Given the description of an element on the screen output the (x, y) to click on. 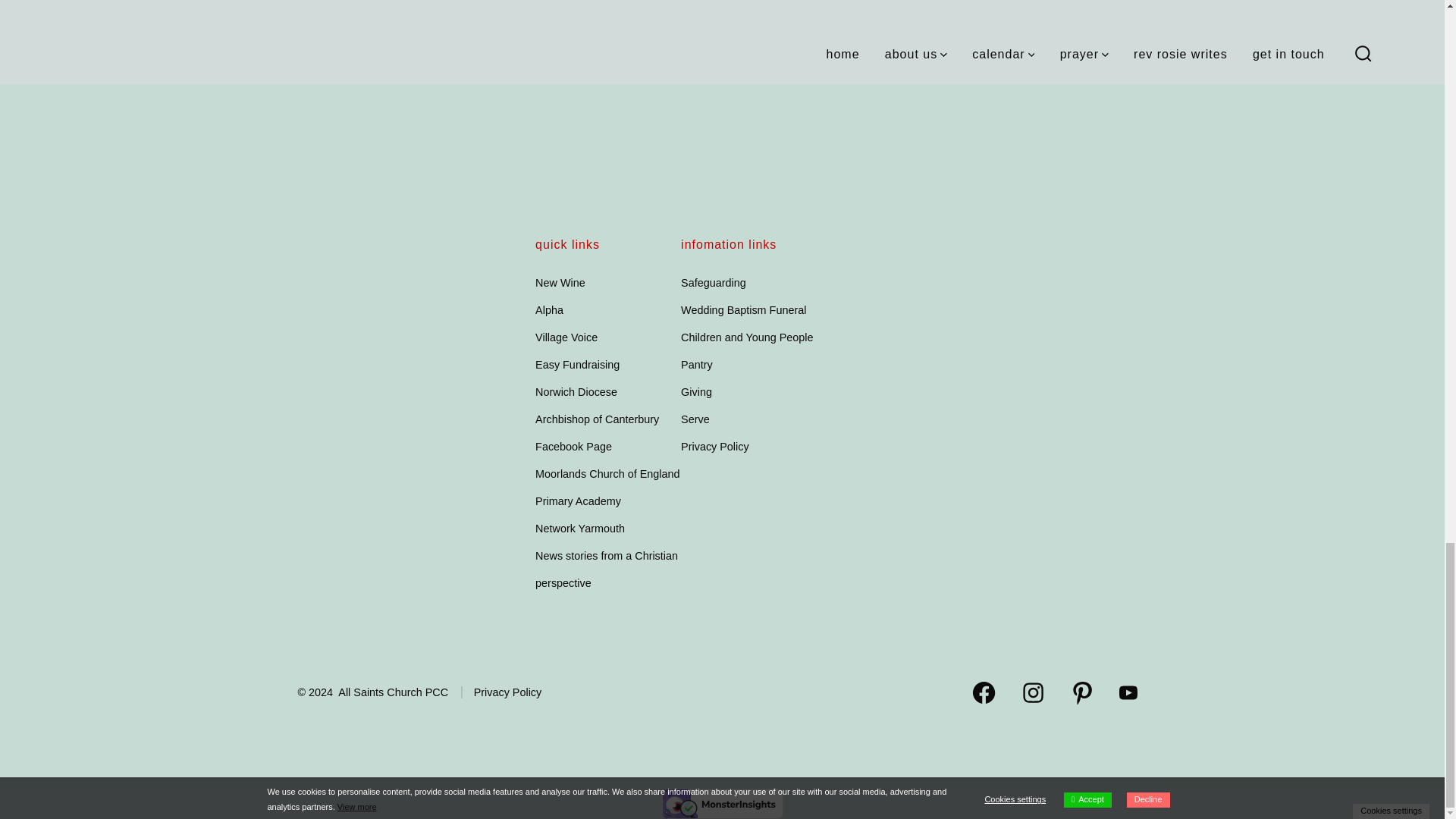
Serve (695, 419)
Alpha (549, 309)
Village Voice (565, 337)
Children and Young People (746, 337)
Open Instagram in a new tab (1033, 692)
New Wine (560, 282)
Archbishop of Canterbury Facebook Page (597, 432)
Moorlands Church of England Primary Academy (607, 486)
Network Yarmouth (579, 528)
Privacy Policy (715, 446)
